Given the description of an element on the screen output the (x, y) to click on. 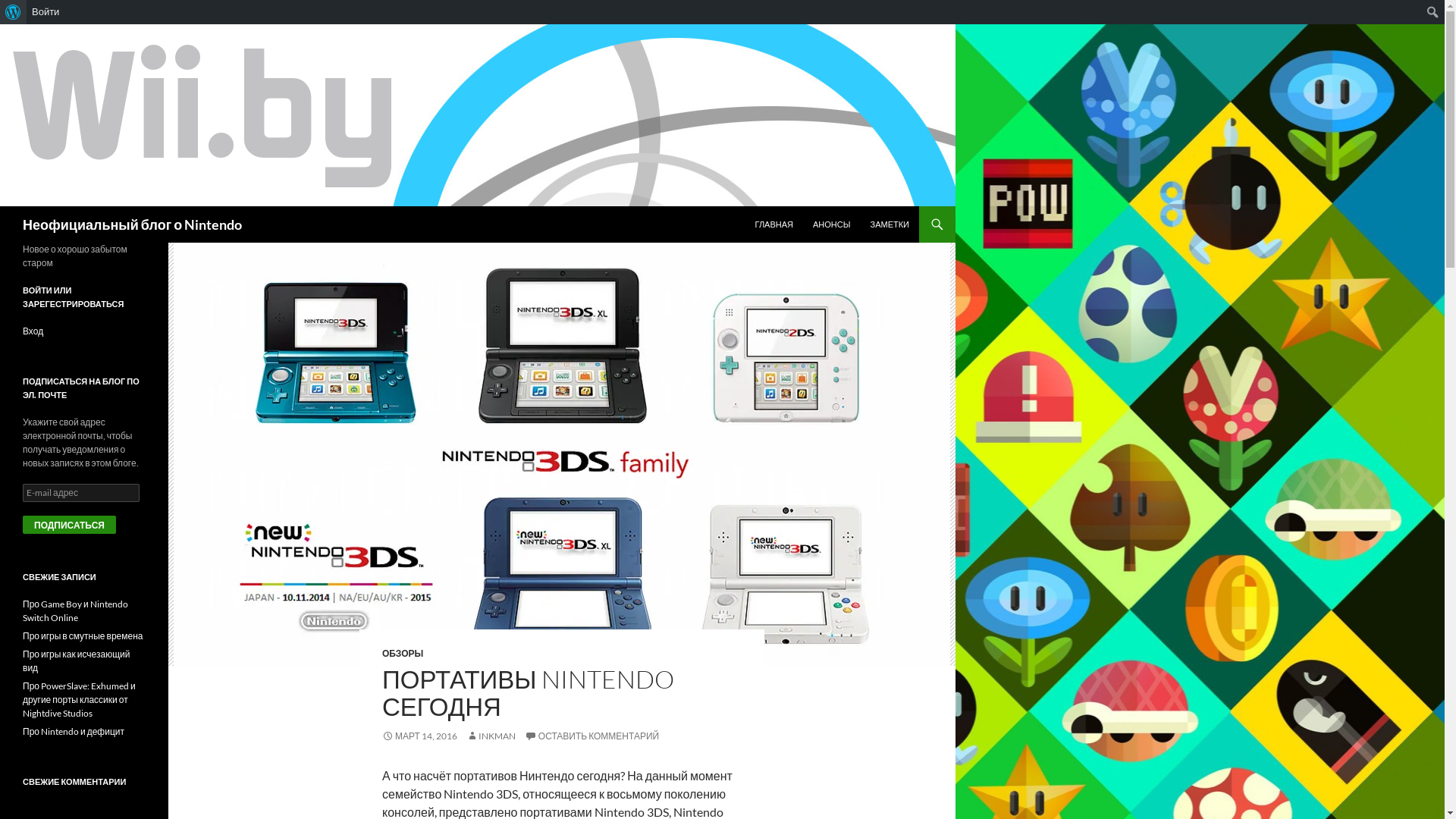
INKMAN Element type: text (490, 735)
